Given the description of an element on the screen output the (x, y) to click on. 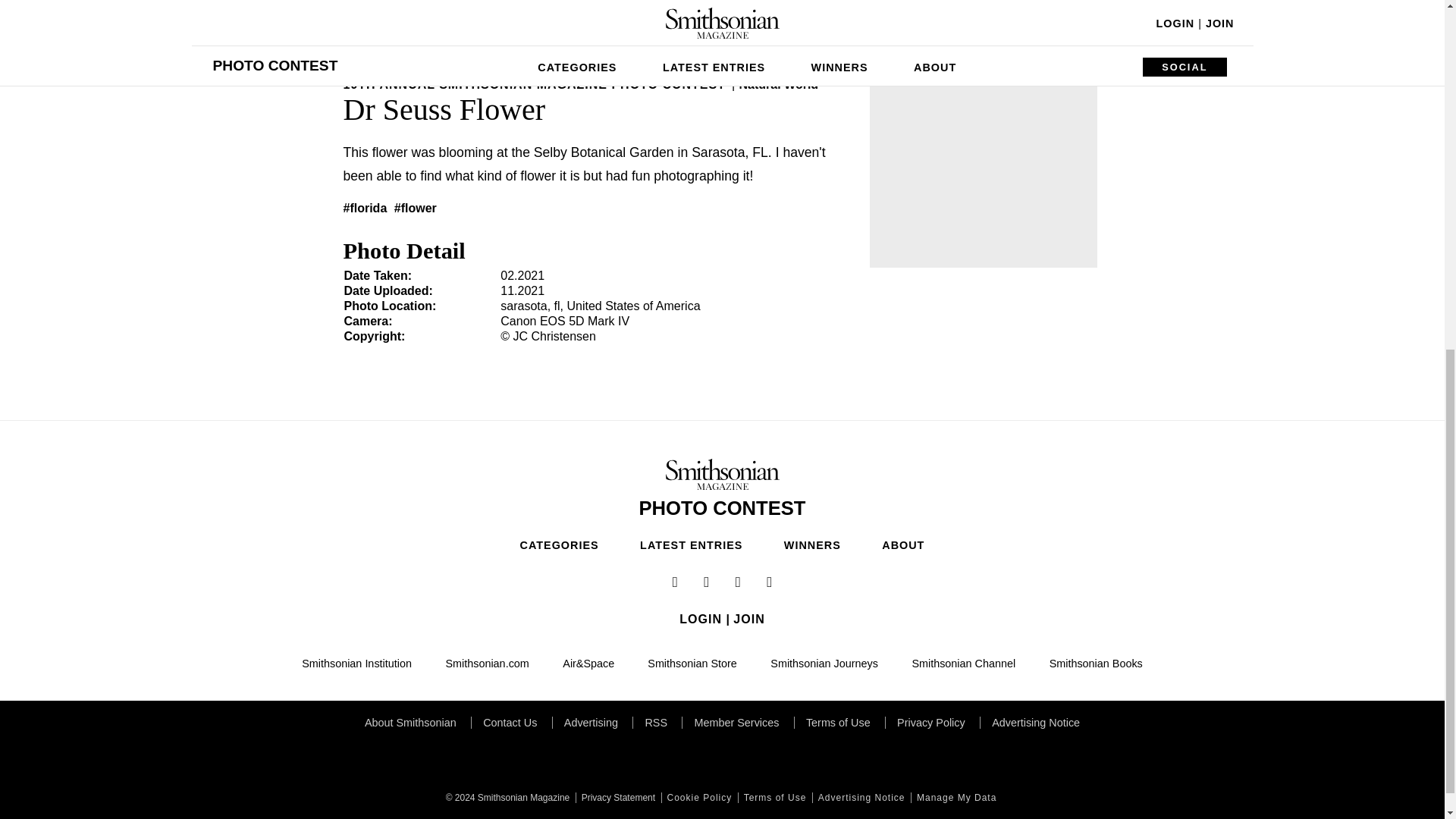
Privacy Statement (616, 797)
Terms of Use (773, 797)
Advertising Notice (859, 797)
Manage My Data (954, 797)
Cookie Policy (698, 797)
